Given the description of an element on the screen output the (x, y) to click on. 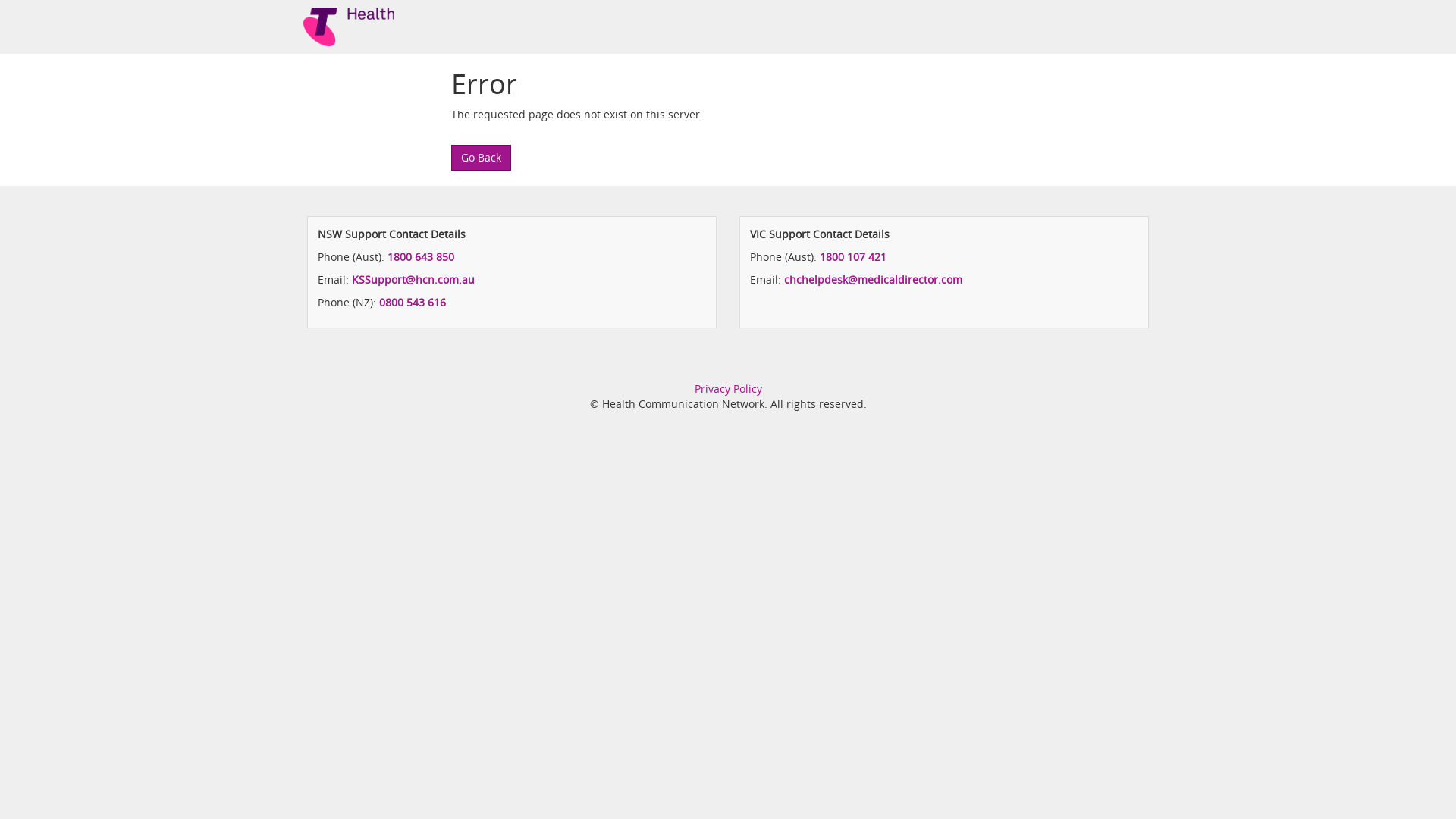
Go Back Element type: text (481, 157)
chchelpdesk@medicaldirector.com Element type: text (873, 279)
Privacy Policy Element type: text (728, 388)
KSSupport@hcn.com.au Element type: text (412, 279)
0800 543 616 Element type: text (412, 301)
1800 107 421 Element type: text (852, 256)
1800 643 850 Element type: text (420, 256)
